Given the description of an element on the screen output the (x, y) to click on. 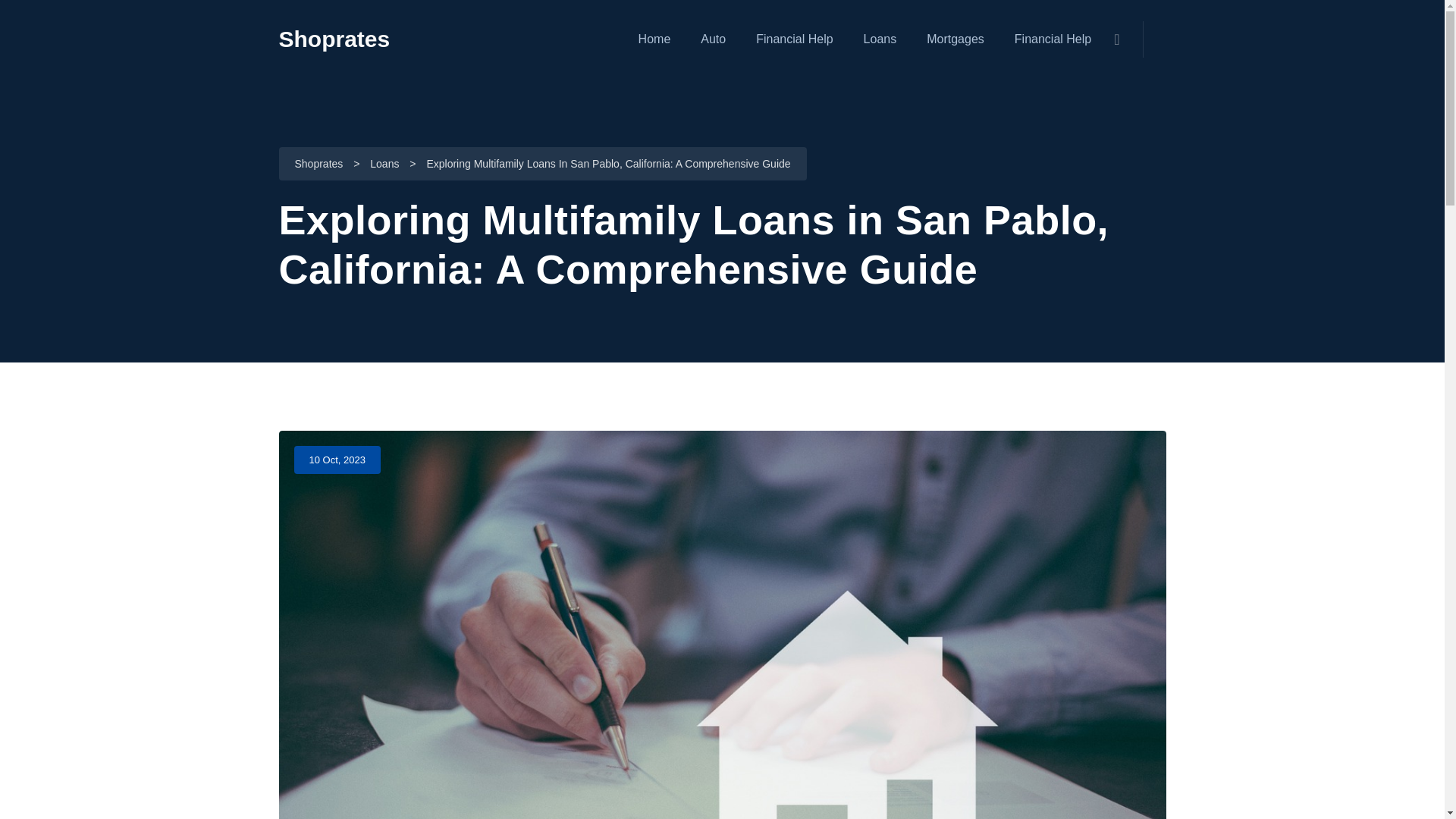
Go to the Loans Category archives. (383, 164)
Mortgages (955, 39)
Shoprates (334, 38)
Auto (712, 39)
Loans (879, 39)
Home (655, 39)
Go to Shoprates. (318, 164)
Financial Help (793, 39)
Financial Help (1052, 39)
Shoprates (318, 164)
